Given the description of an element on the screen output the (x, y) to click on. 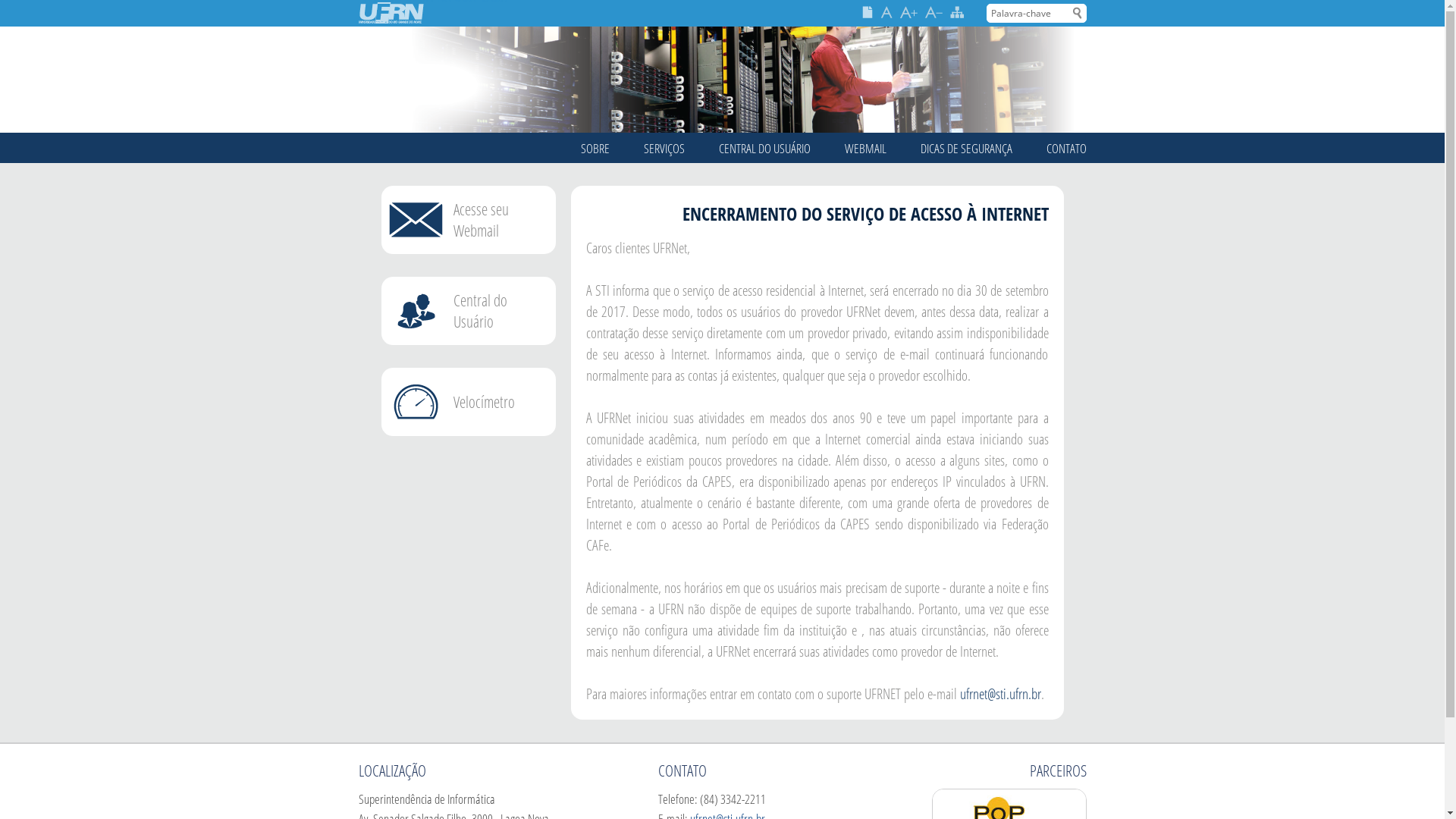
SOBRE Element type: text (594, 147)
Acesse o Portal da UFRN Element type: hover (390, 17)
Palavra-chave Element type: text (1035, 12)
Buscar Element type: hover (1078, 12)
Acesse seu
Webmail Element type: text (467, 219)
CONTATO Element type: text (1066, 147)
WEBMAIL Element type: text (865, 147)
ufrnet@sti.ufrn.br Element type: text (1000, 693)
